Given the description of an element on the screen output the (x, y) to click on. 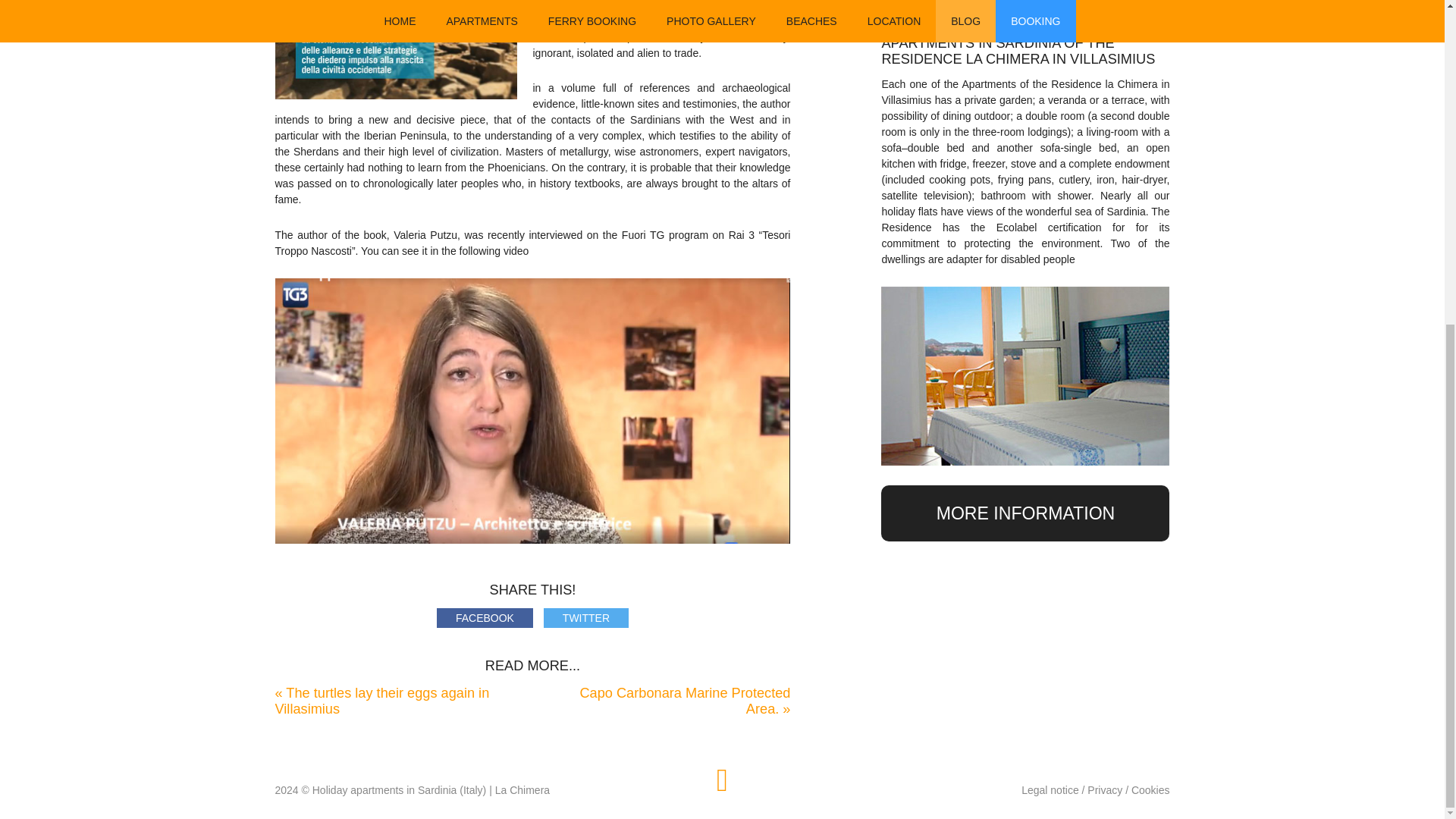
Twitter (585, 618)
more information (1024, 513)
MORE INFORMATION (1024, 513)
FACEBOOK (484, 618)
Facebook (484, 618)
TWITTER (585, 618)
